Given the description of an element on the screen output the (x, y) to click on. 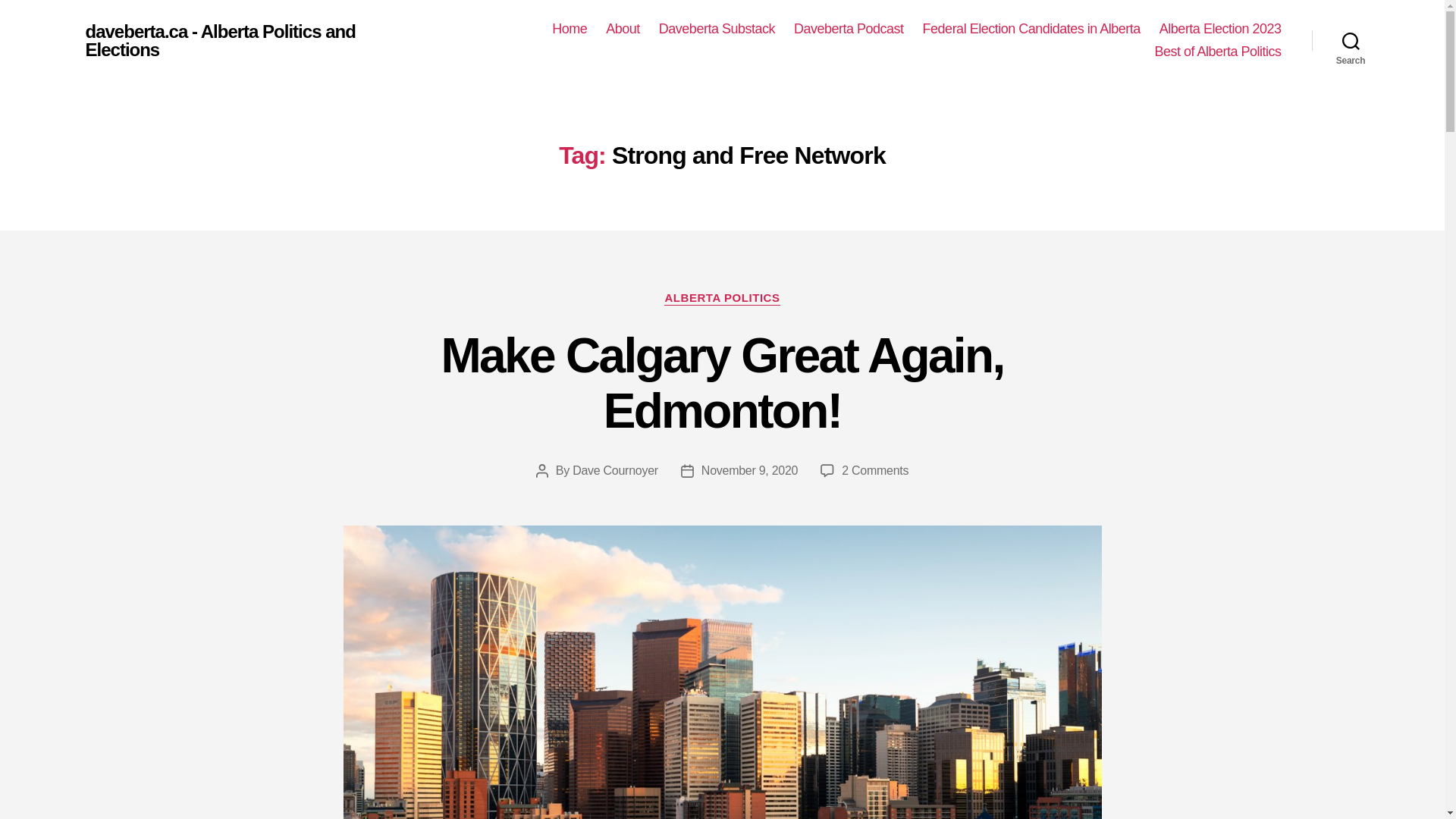
Daveberta Podcast (874, 470)
Make Calgary Great Again, Edmonton! (848, 29)
Best of Alberta Politics (722, 383)
Search (1217, 52)
Alberta Election 2023 (1350, 40)
Federal Election Candidates in Alberta (1219, 29)
ALBERTA POLITICS (1031, 29)
Daveberta Substack (720, 298)
About (716, 29)
daveberta.ca - Alberta Politics and Elections (622, 29)
Dave Cournoyer (250, 40)
Home (615, 470)
November 9, 2020 (568, 29)
